Given the description of an element on the screen output the (x, y) to click on. 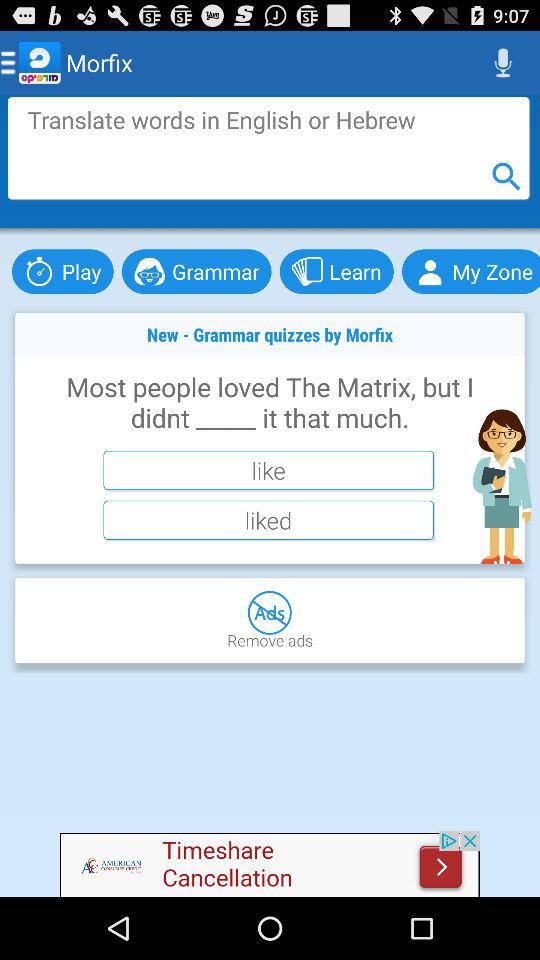
go to advertisement (270, 864)
